Given the description of an element on the screen output the (x, y) to click on. 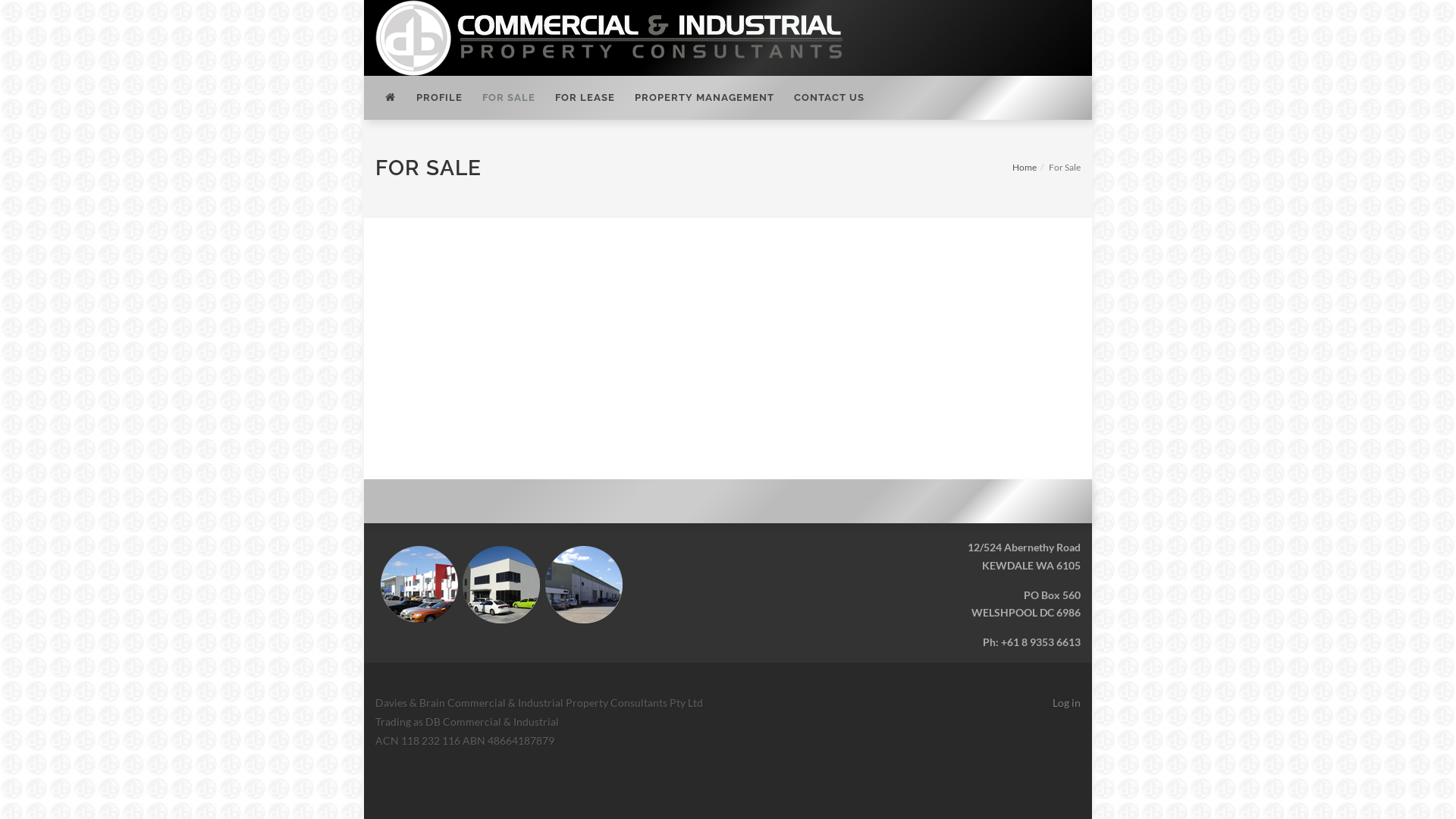
Log in Element type: text (1066, 702)
Ph: +61 8 9353 6613 Element type: text (1031, 641)
Home Element type: text (1024, 166)
PROPERTY MANAGEMENT Element type: text (704, 97)
FOR SALE Element type: text (508, 97)
PROFILE Element type: text (439, 97)
CONTACT US Element type: text (828, 97)
FOR LEASE Element type: text (585, 97)
